Given the description of an element on the screen output the (x, y) to click on. 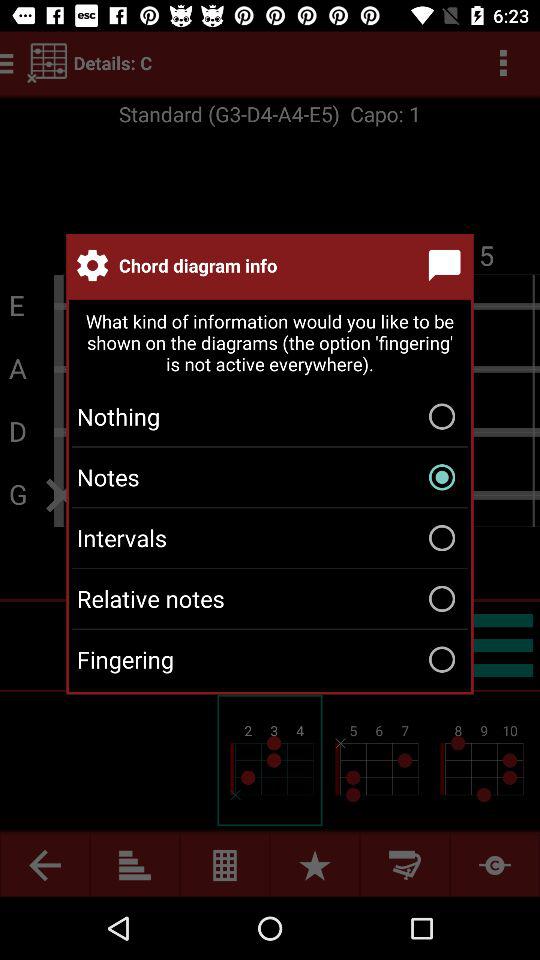
turn off the icon next to the chord diagram info item (448, 265)
